Given the description of an element on the screen output the (x, y) to click on. 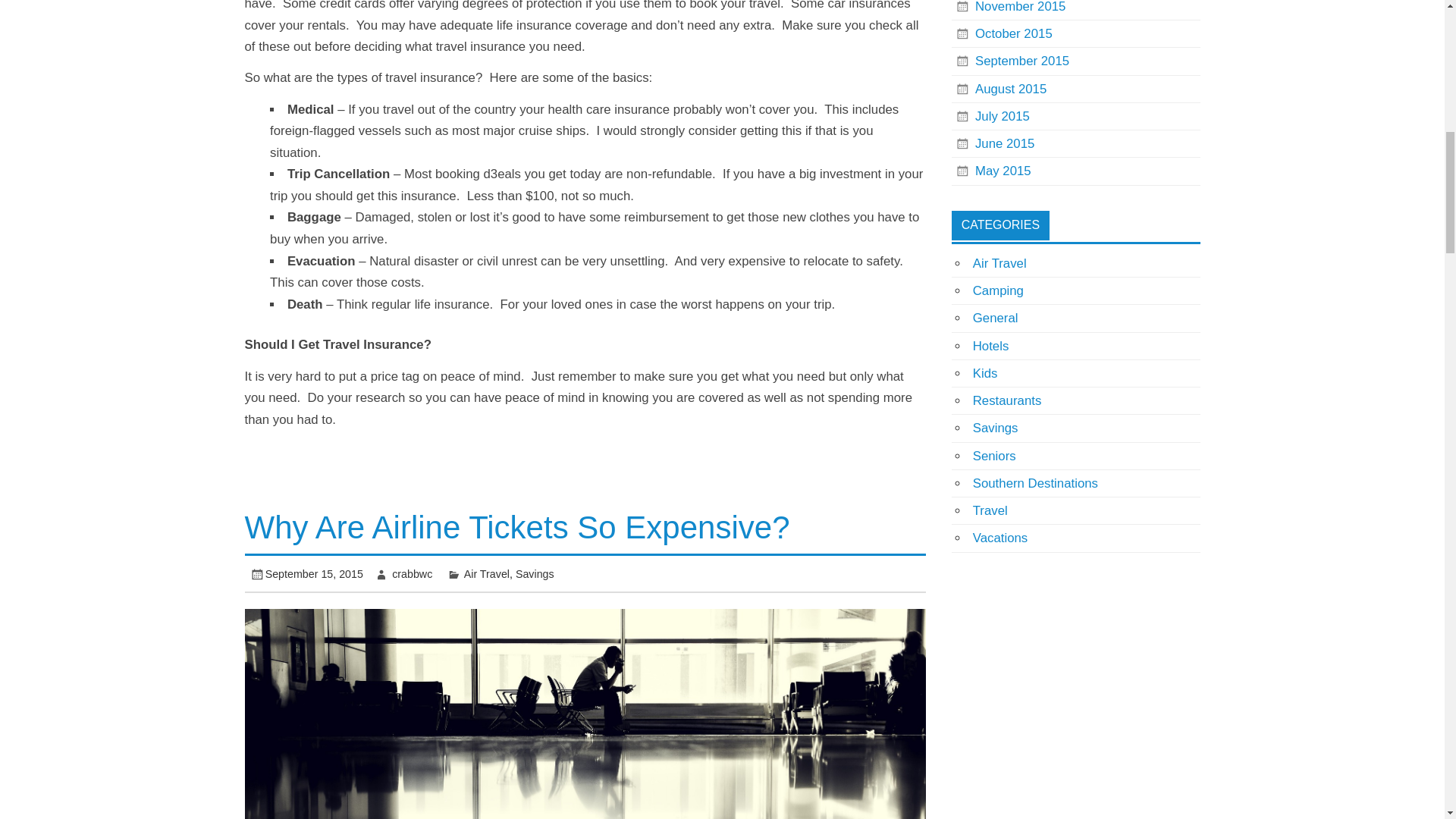
Why Are Airline Tickets So Expensive? (516, 527)
View all posts by crabbwc (411, 573)
Air Travel (486, 573)
crabbwc (411, 573)
Savings (534, 573)
September 15, 2015 (313, 573)
4:50 pm (313, 573)
